Given the description of an element on the screen output the (x, y) to click on. 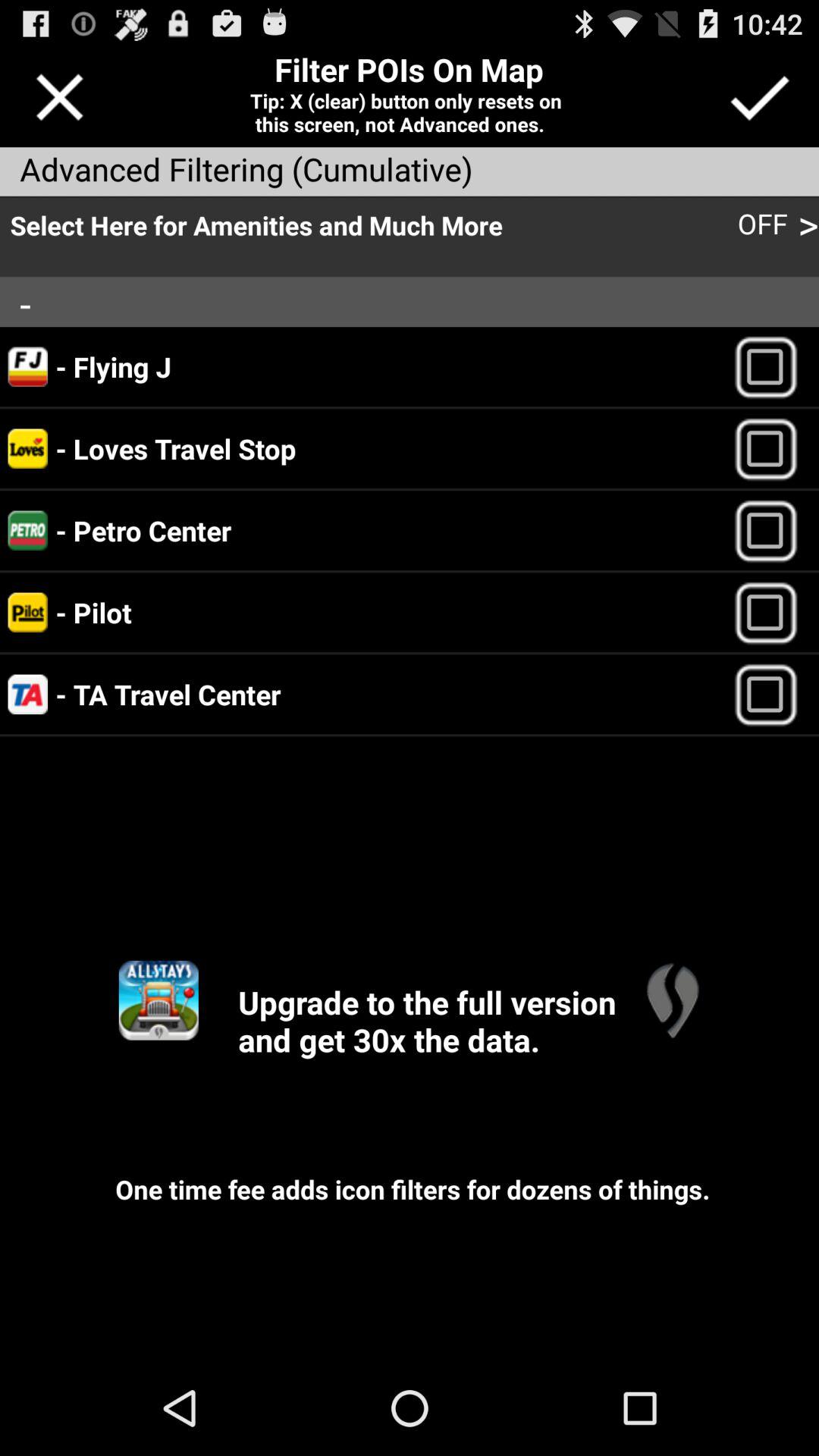
exit out of item (59, 97)
